Given the description of an element on the screen output the (x, y) to click on. 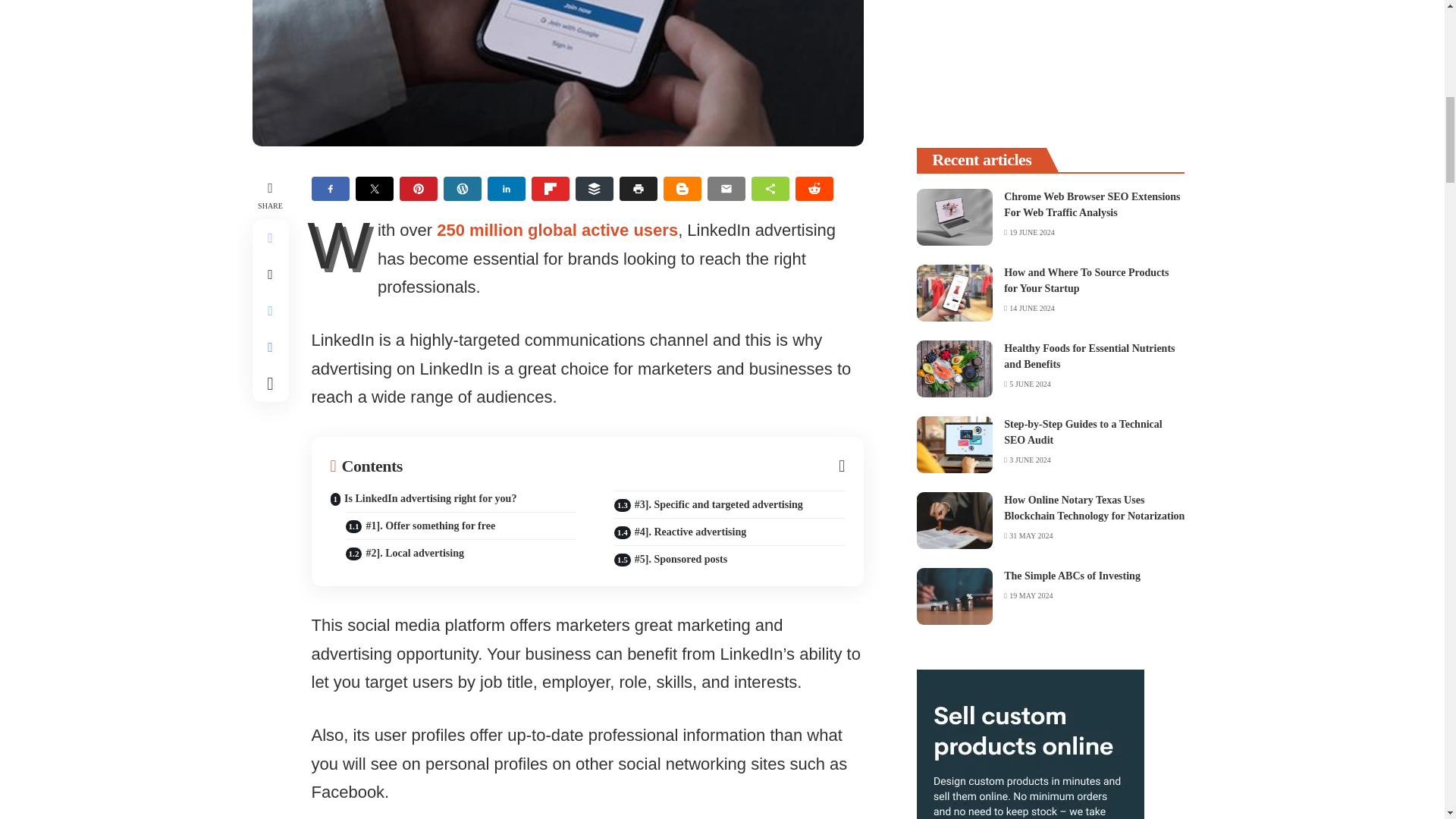
The Simple ABCs of Investing (954, 596)
Healthy Foods for Essential Nutrients and Benefits (954, 368)
How and Where To Source Products for Your Startup (954, 292)
Create and sell custom products media (1030, 744)
W (342, 249)
Chrome Web Browser SEO Extensions For Web Traffic Analysis (954, 217)
Advertisement (1049, 62)
Step-by-Step Guides to a Technical SEO Audit (954, 444)
